Given the description of an element on the screen output the (x, y) to click on. 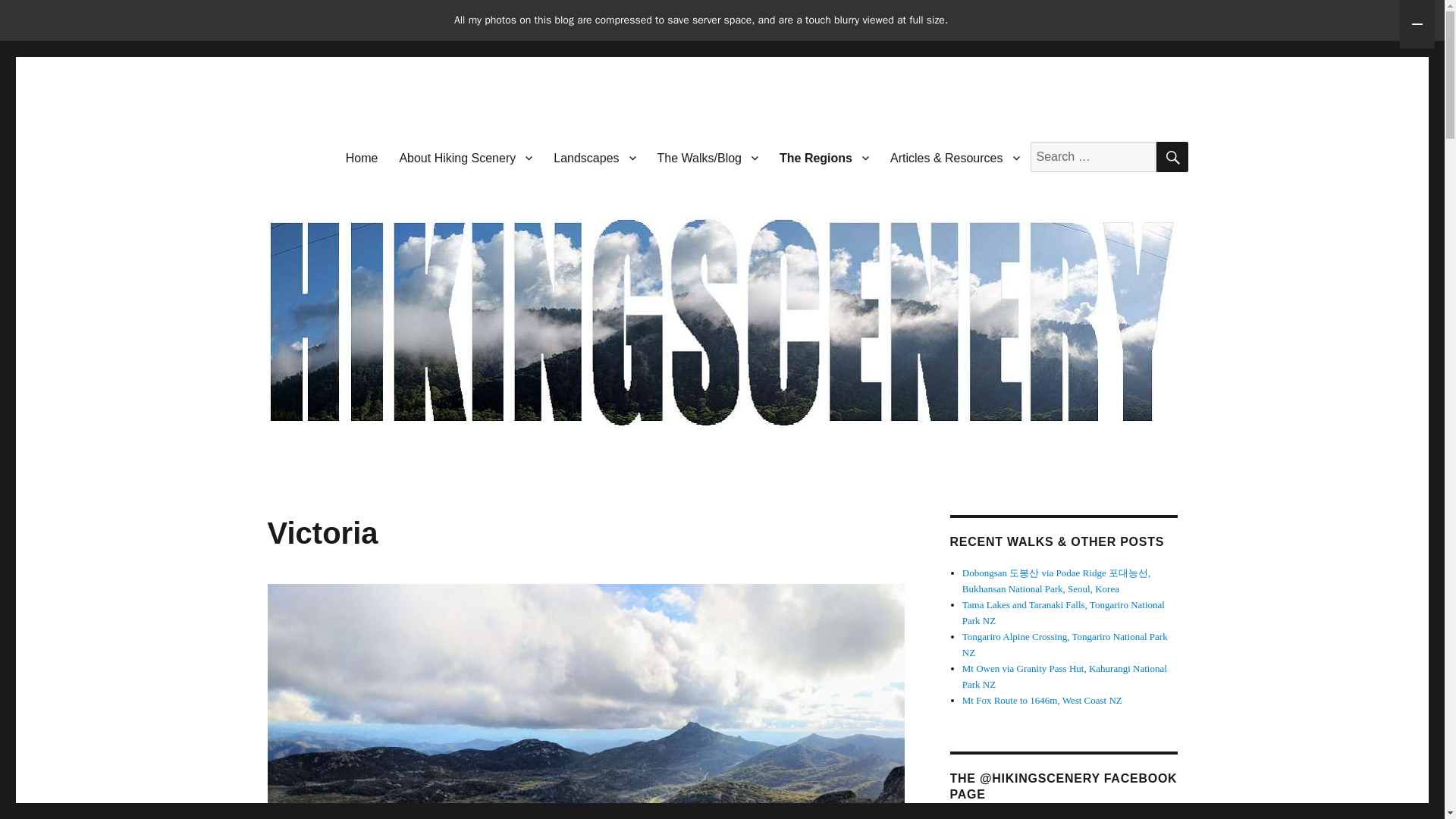
Home (361, 157)
The Regions (823, 157)
Landscapes (594, 157)
Hiking Scenery (343, 155)
About Hiking Scenery (465, 157)
